Given the description of an element on the screen output the (x, y) to click on. 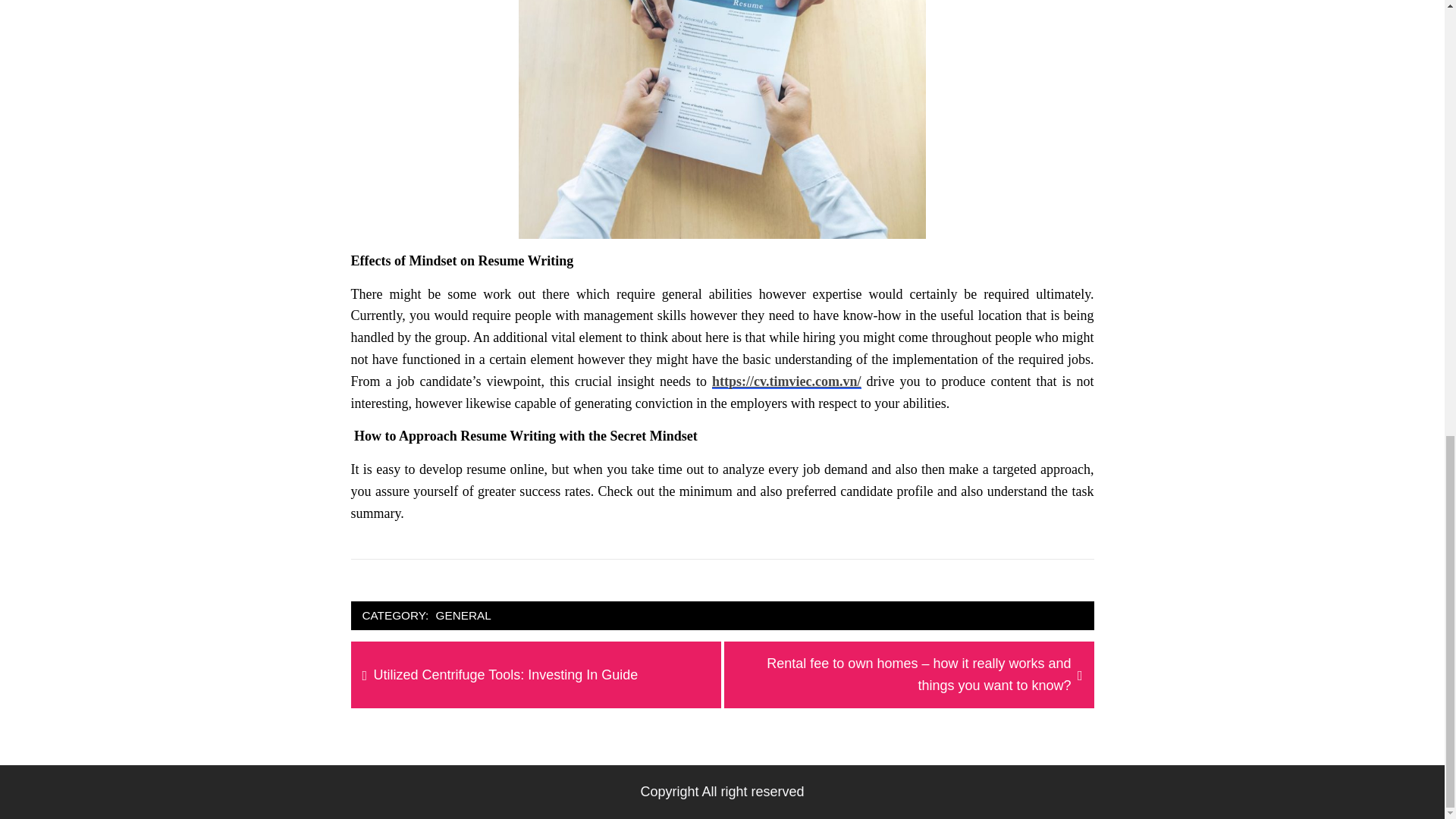
GENERAL (505, 675)
